Given the description of an element on the screen output the (x, y) to click on. 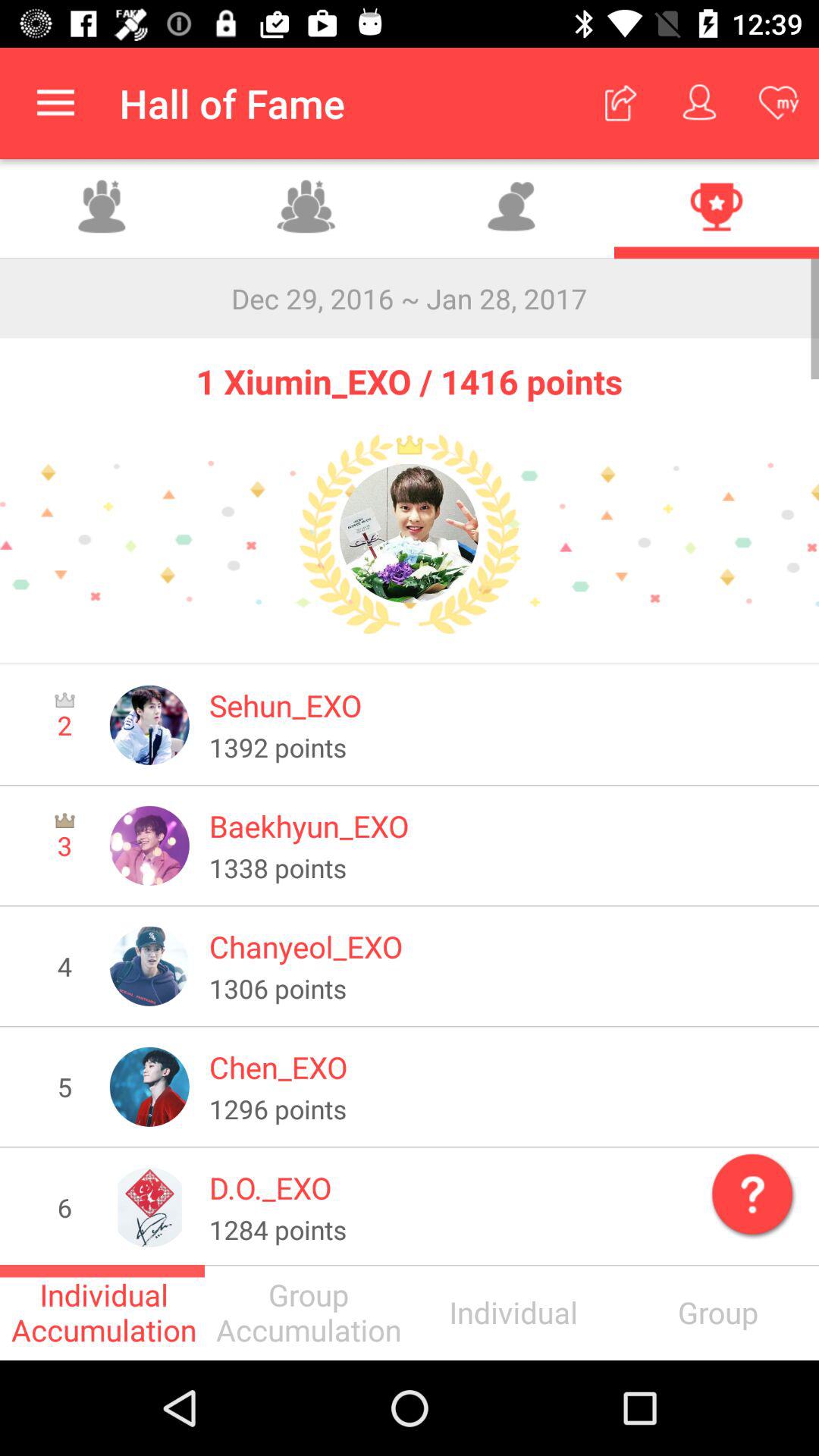
question mark option (749, 1191)
